Given the description of an element on the screen output the (x, y) to click on. 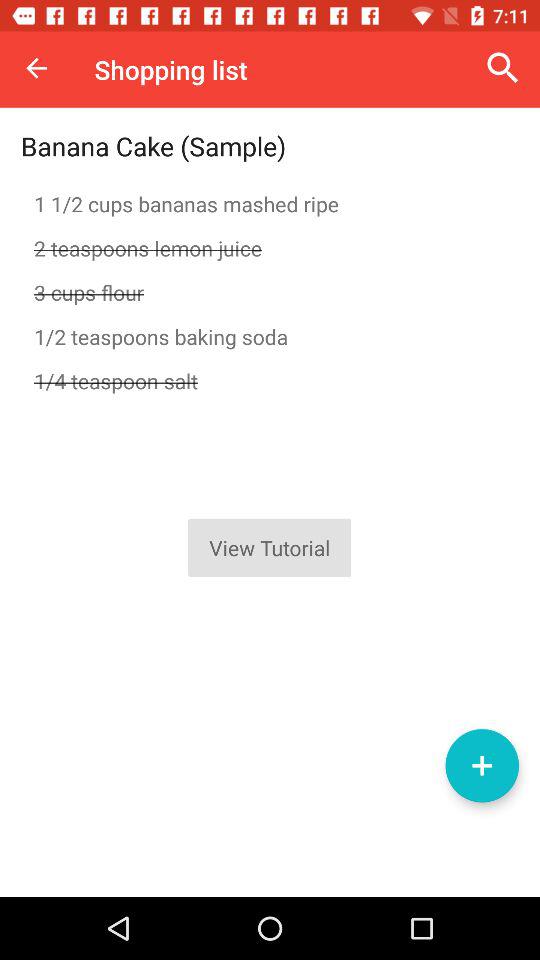
choose banana cake (sample) item (153, 145)
